Given the description of an element on the screen output the (x, y) to click on. 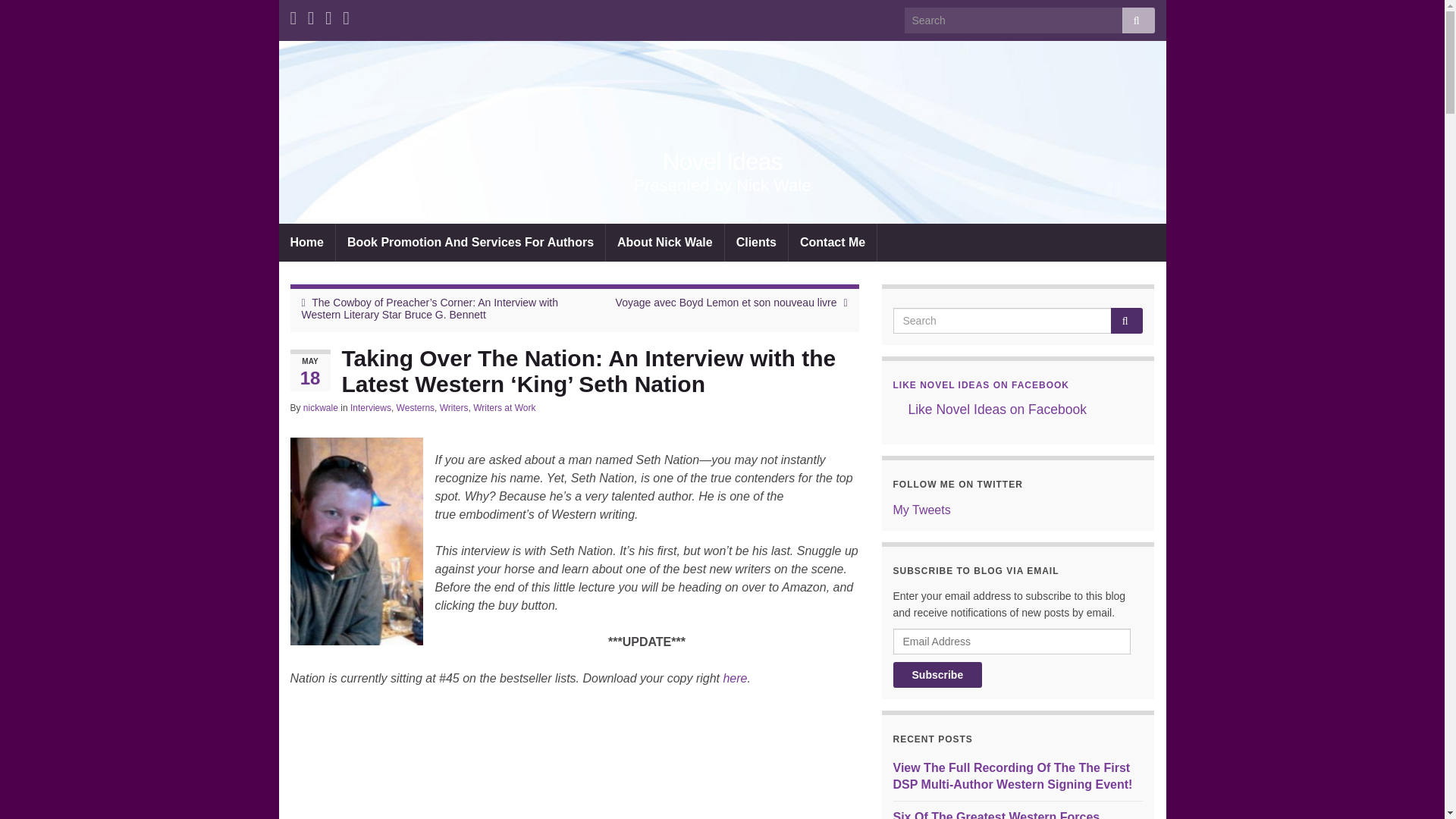
Interviews (370, 407)
Novel Ideas (722, 161)
Subscribe (937, 674)
Voyage avec Boyd Lemon et son nouveau livre (726, 302)
nickwale (319, 407)
Writers at Work (504, 407)
here (734, 677)
Westerns (414, 407)
Contact Me (832, 242)
